Given the description of an element on the screen output the (x, y) to click on. 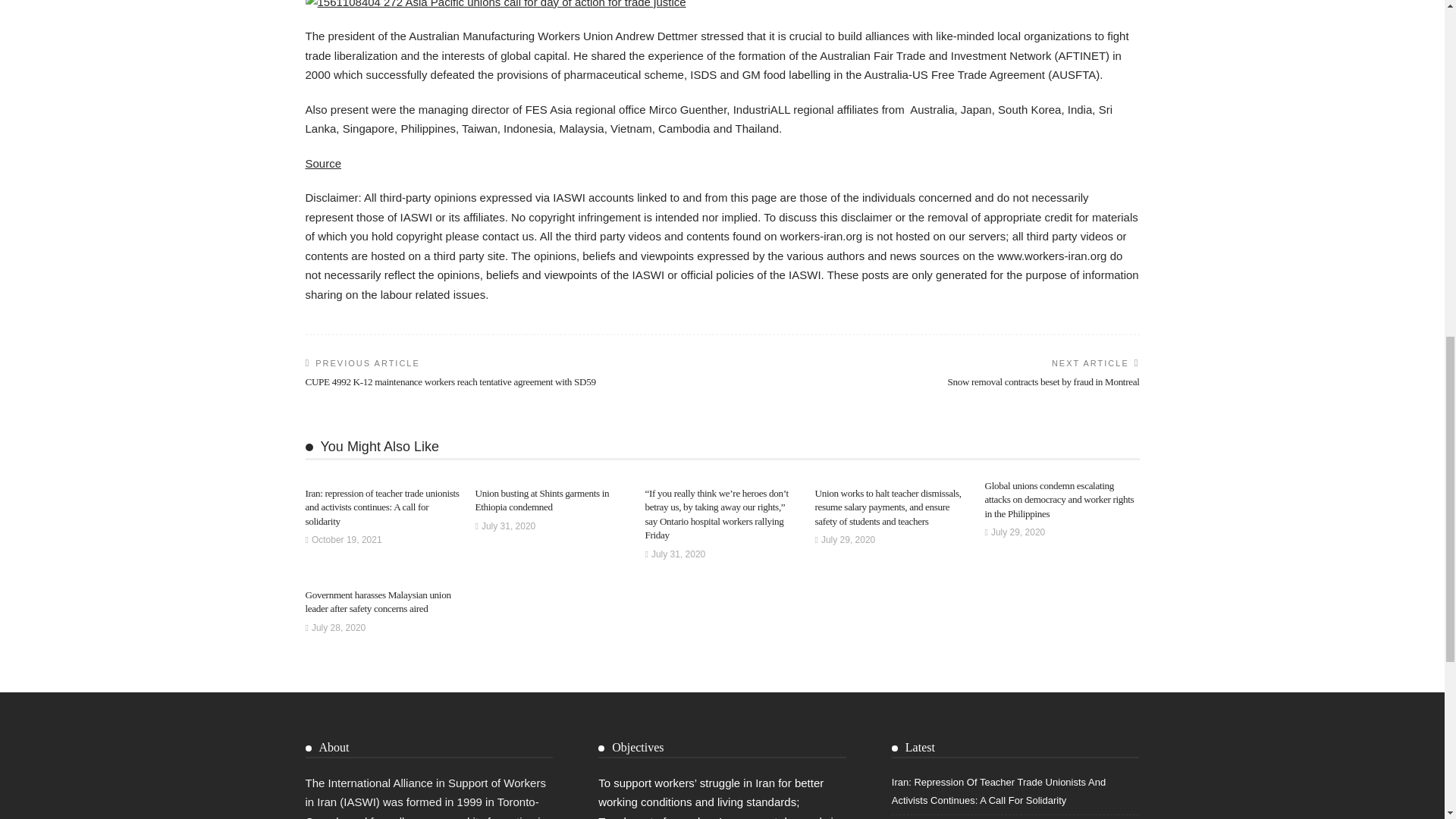
Snow removal contracts beset by fraud in Montreal (1043, 381)
